Given the description of an element on the screen output the (x, y) to click on. 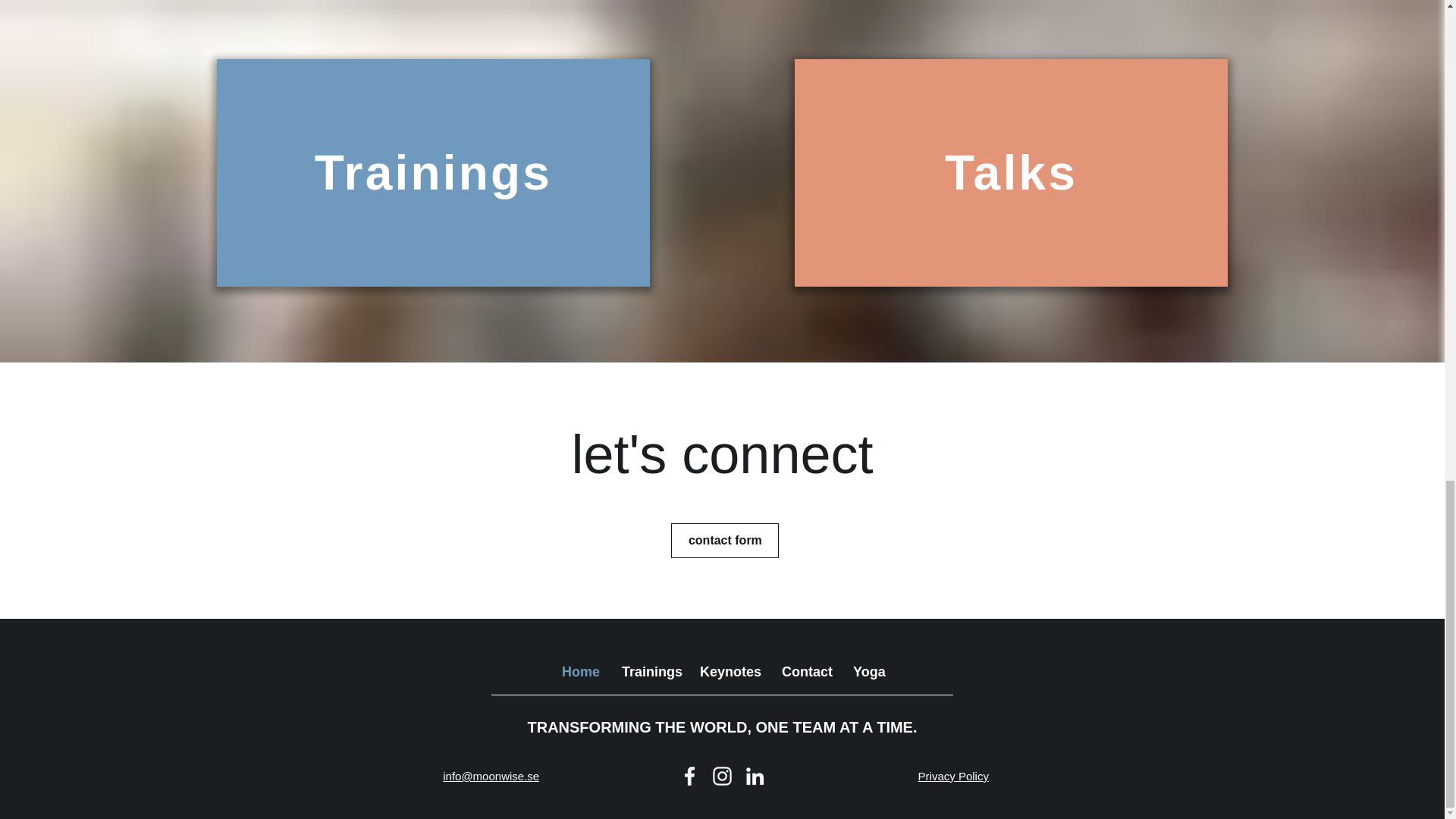
Home (580, 671)
Talks (1010, 172)
Keynotes (729, 671)
Trainings (649, 671)
let's connect (722, 454)
contact form (724, 540)
Privacy Policy (953, 775)
Yoga (867, 671)
Trainings (432, 172)
Contact (805, 671)
